Given the description of an element on the screen output the (x, y) to click on. 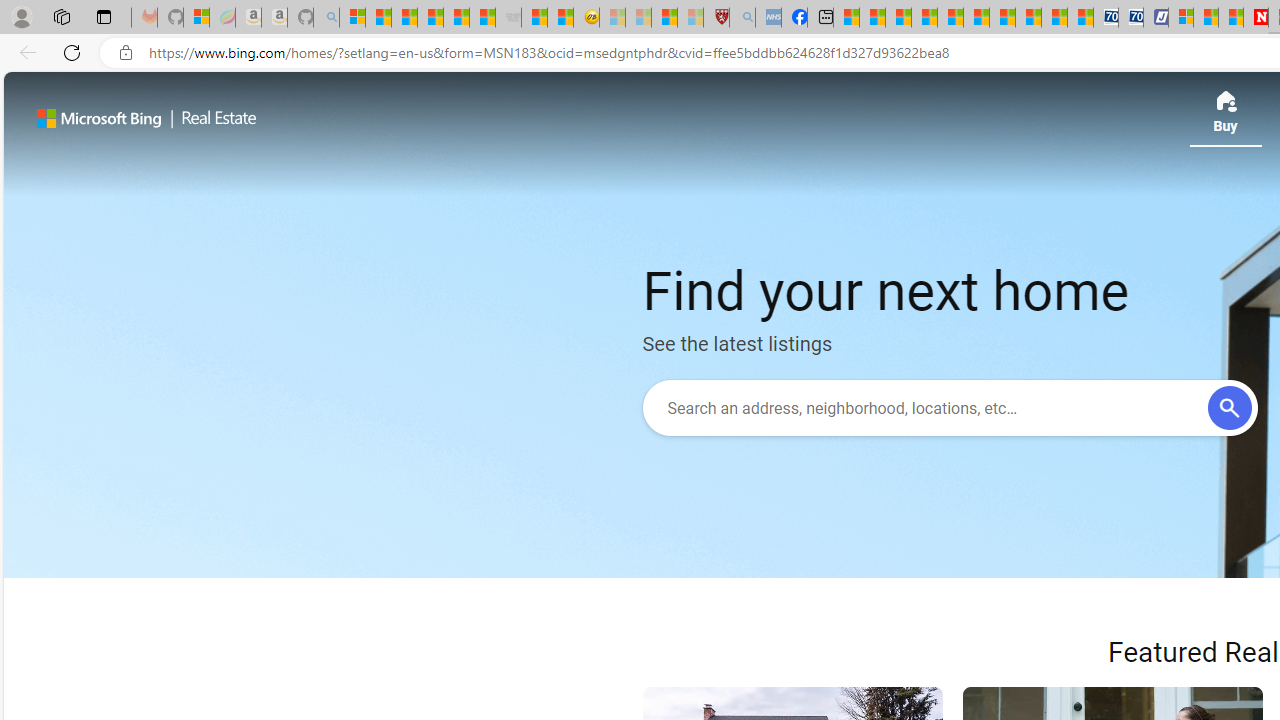
Microsoft Bing (99, 118)
